Given the description of an element on the screen output the (x, y) to click on. 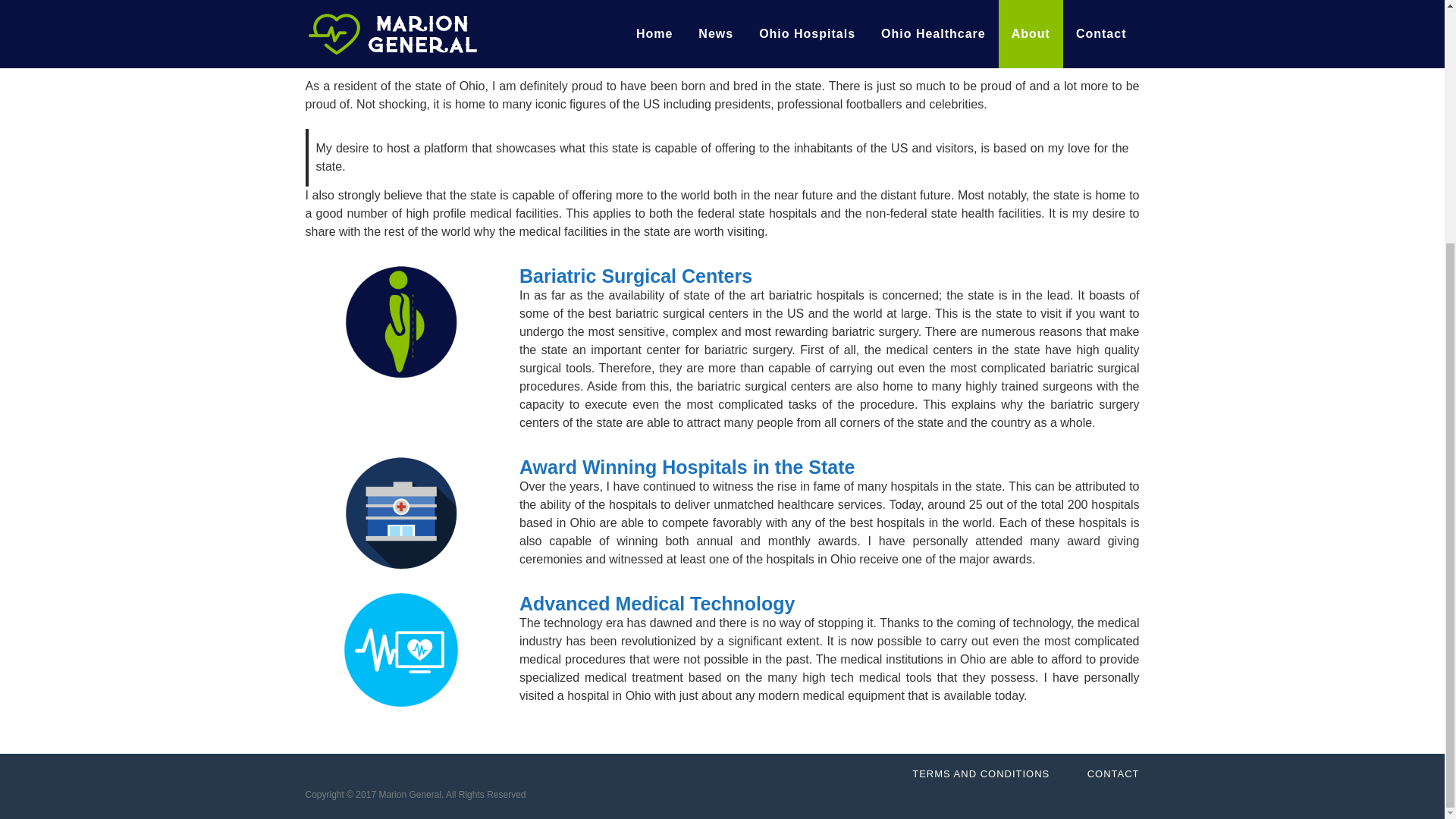
advanced-med-icon (400, 649)
TERMS AND CONDITIONS (980, 436)
hospital-icon (400, 513)
biatric-icon (400, 322)
CONTACT (1113, 436)
